Given the description of an element on the screen output the (x, y) to click on. 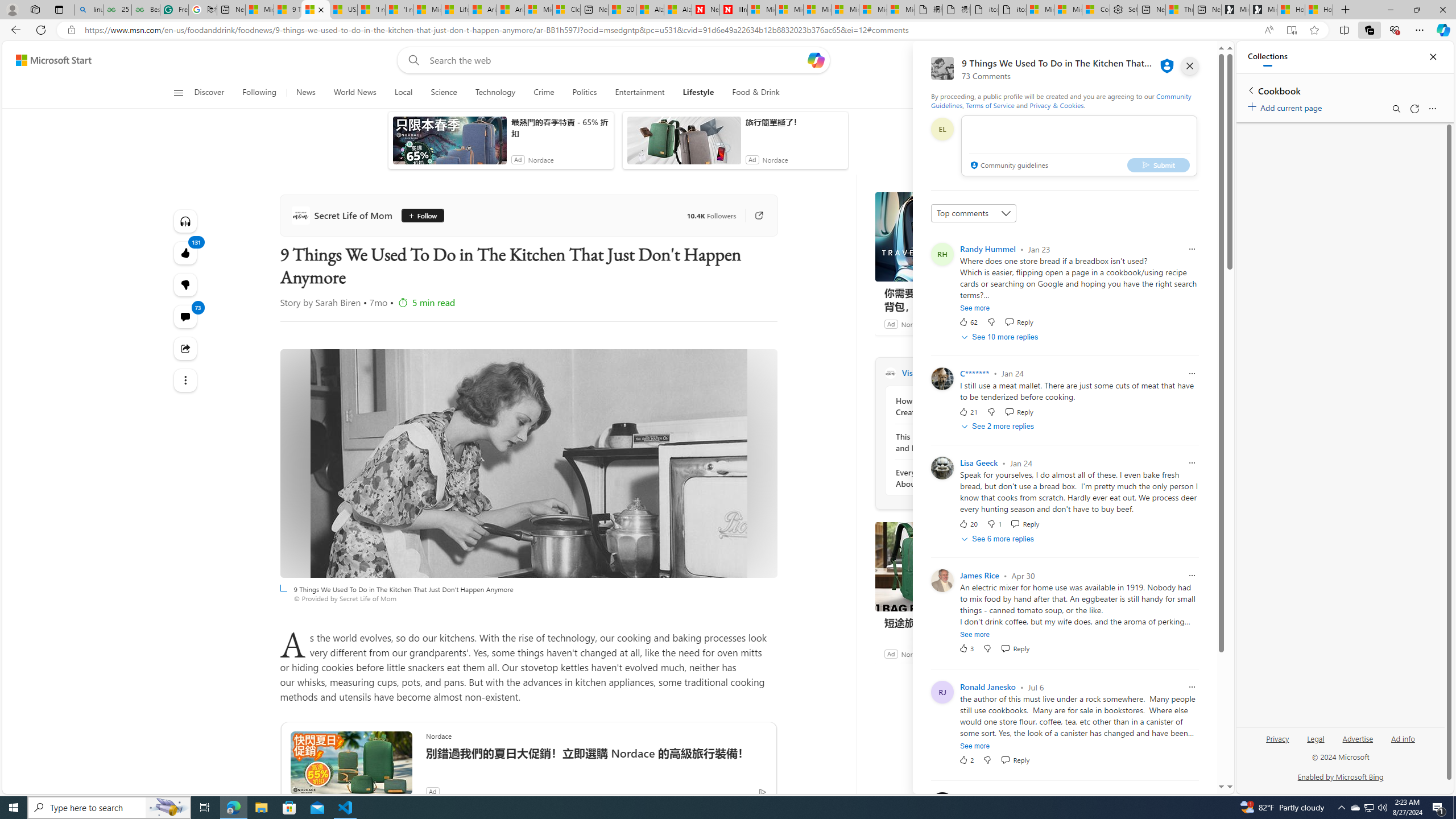
anim-content (683, 144)
Secret Life of Mom (889, 372)
3 Like (965, 648)
